Given the description of an element on the screen output the (x, y) to click on. 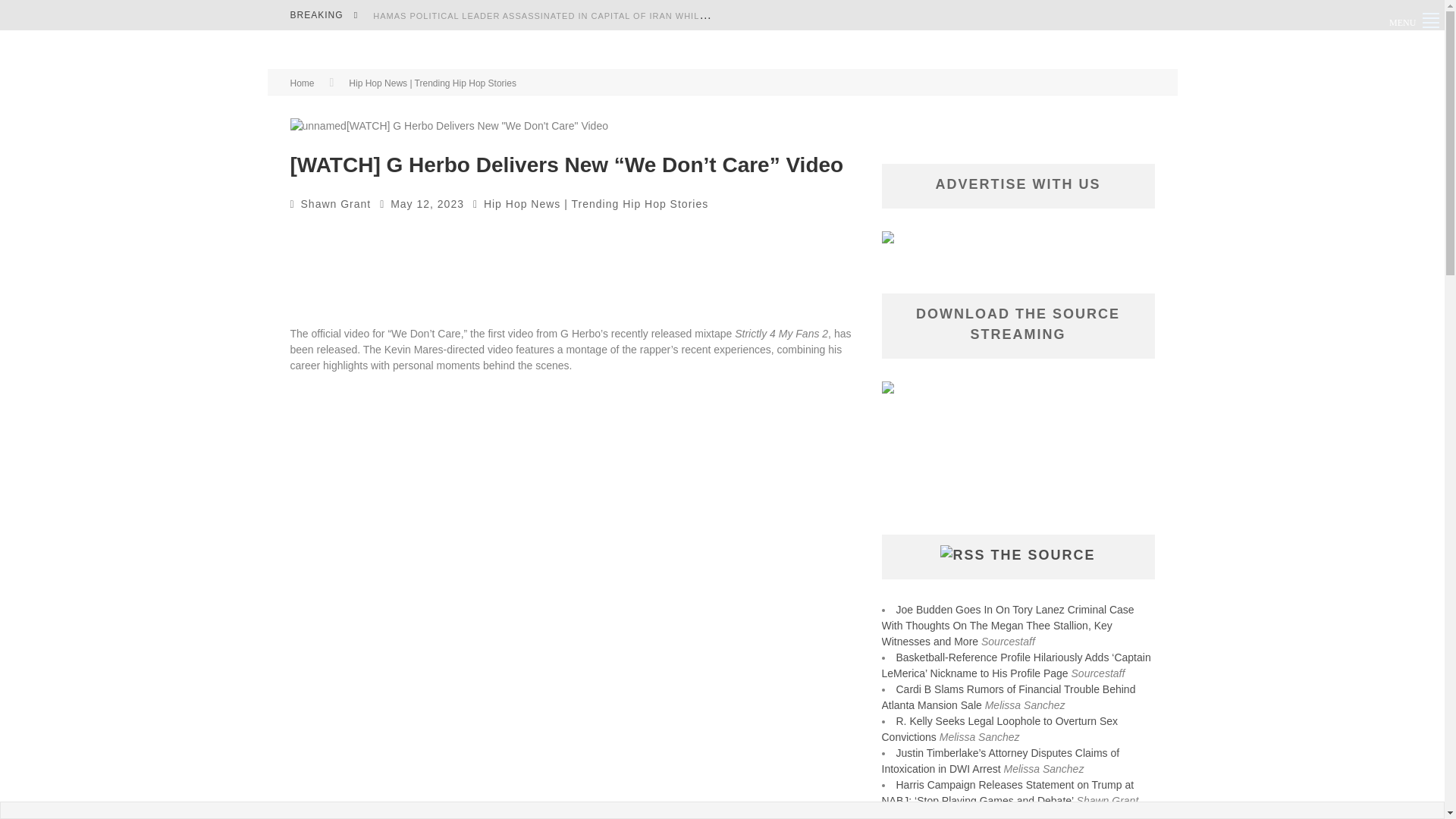
Home (301, 82)
Shawn Grant (336, 203)
